Given the description of an element on the screen output the (x, y) to click on. 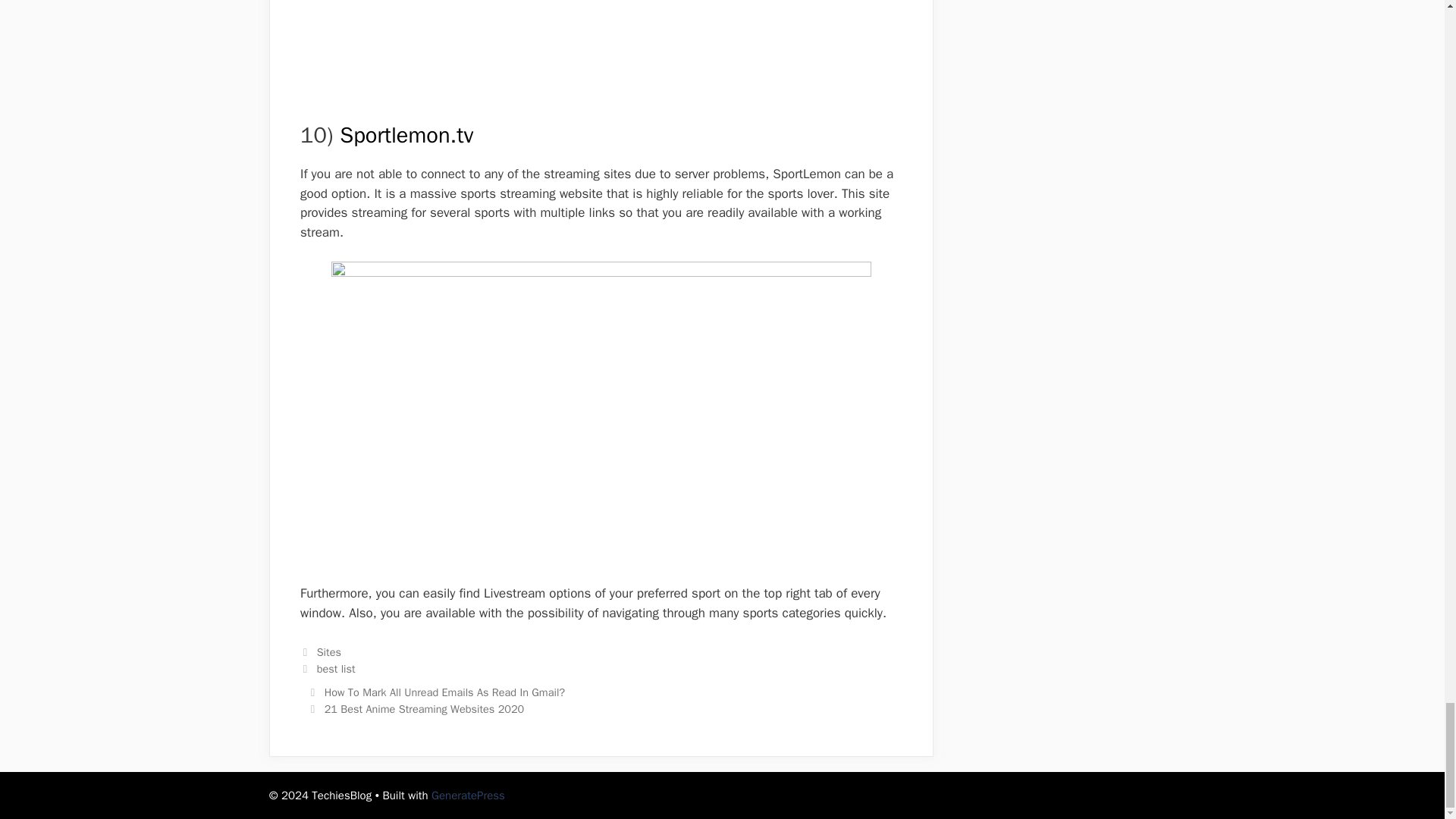
21 Best Anime Streaming Websites 2020 (424, 708)
best list (336, 668)
How To Mark All Unread Emails As Read In Gmail? (445, 692)
Sites (328, 652)
GeneratePress (467, 795)
Sportlemon.tv (406, 135)
